Given the description of an element on the screen output the (x, y) to click on. 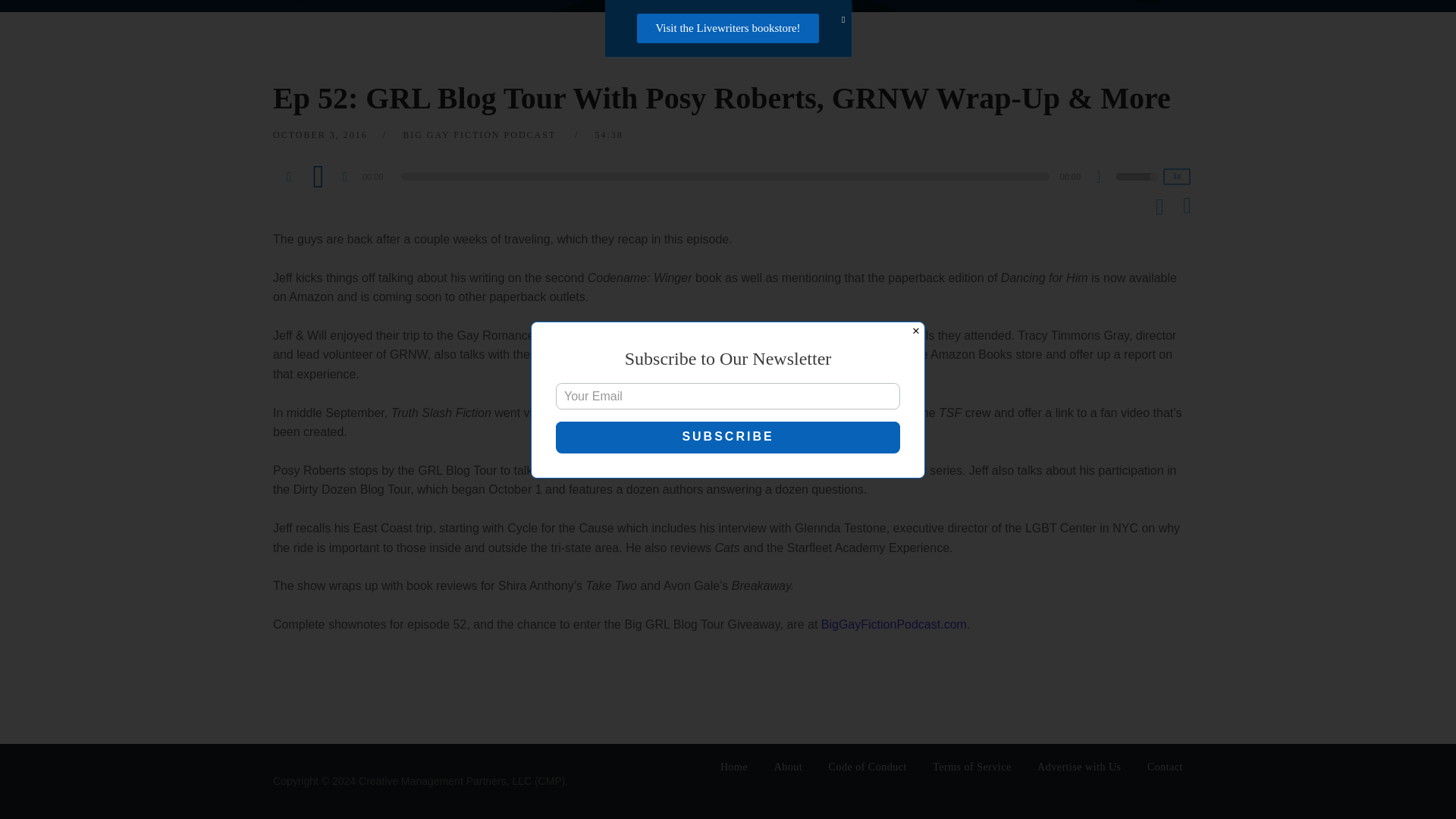
Speed Rate (1177, 176)
Mute (1104, 178)
Play (317, 175)
